Given the description of an element on the screen output the (x, y) to click on. 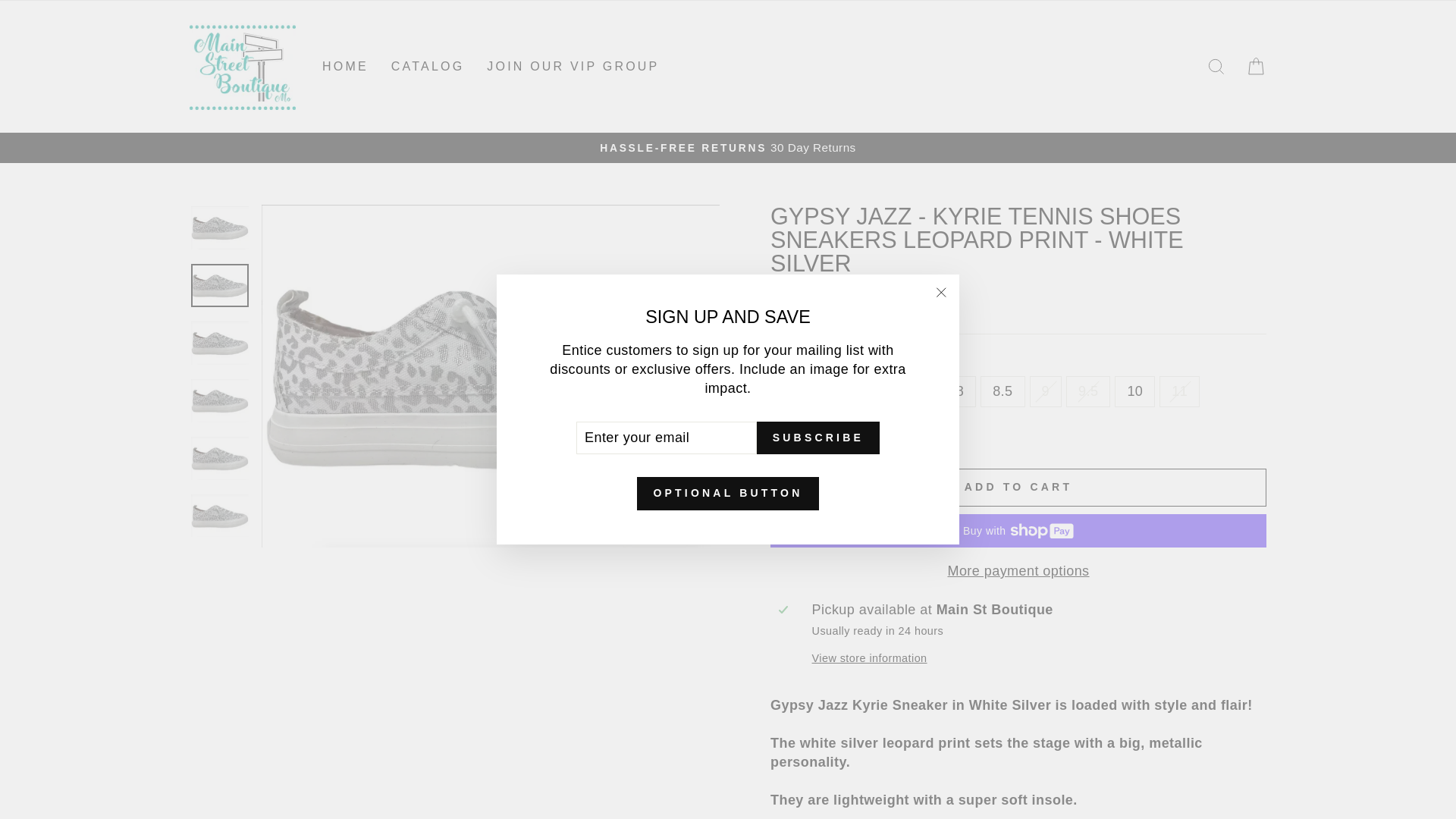
CATALOG (428, 66)
SUBSCRIBE (818, 438)
OPTIONAL BUTTON (727, 493)
CART (1255, 66)
HOME (345, 66)
ICON-SEARCH (1216, 66)
icon-X (941, 292)
